Given the description of an element on the screen output the (x, y) to click on. 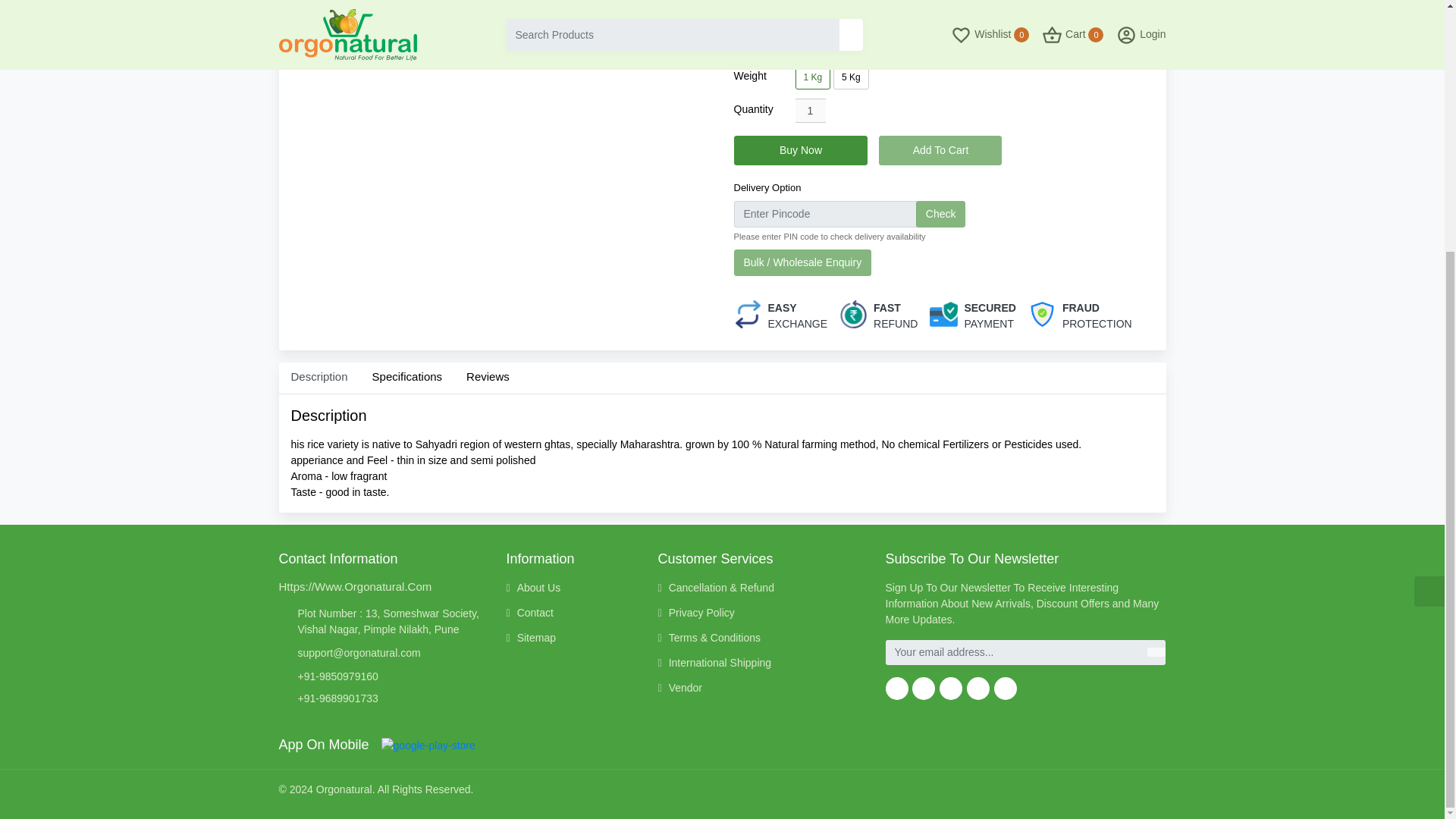
1 (809, 110)
